Given the description of an element on the screen output the (x, y) to click on. 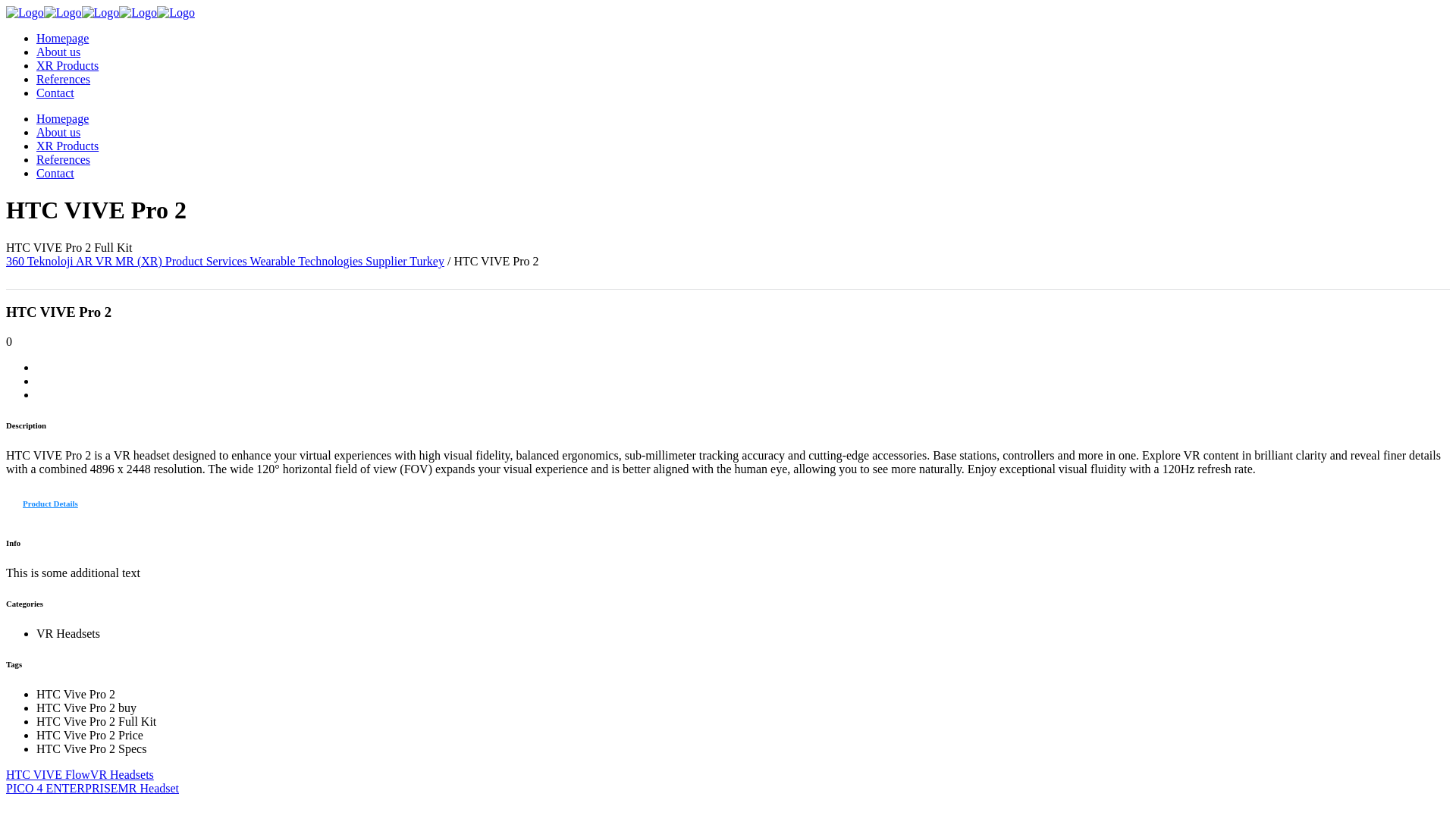
Homepage Element type: text (62, 118)
Contact Element type: text (55, 92)
XR Products Element type: text (67, 145)
References Element type: text (63, 159)
About us Element type: text (58, 131)
About us Element type: text (58, 51)
Contact Element type: text (55, 172)
0 Element type: text (9, 341)
HTC VIVE FlowVR Headsets Element type: text (727, 774)
Product Details Element type: text (50, 503)
PICO 4 ENTERPRISEMR Headset Element type: text (727, 788)
Homepage Element type: text (62, 37)
XR Products Element type: text (67, 65)
References Element type: text (63, 78)
